Given the description of an element on the screen output the (x, y) to click on. 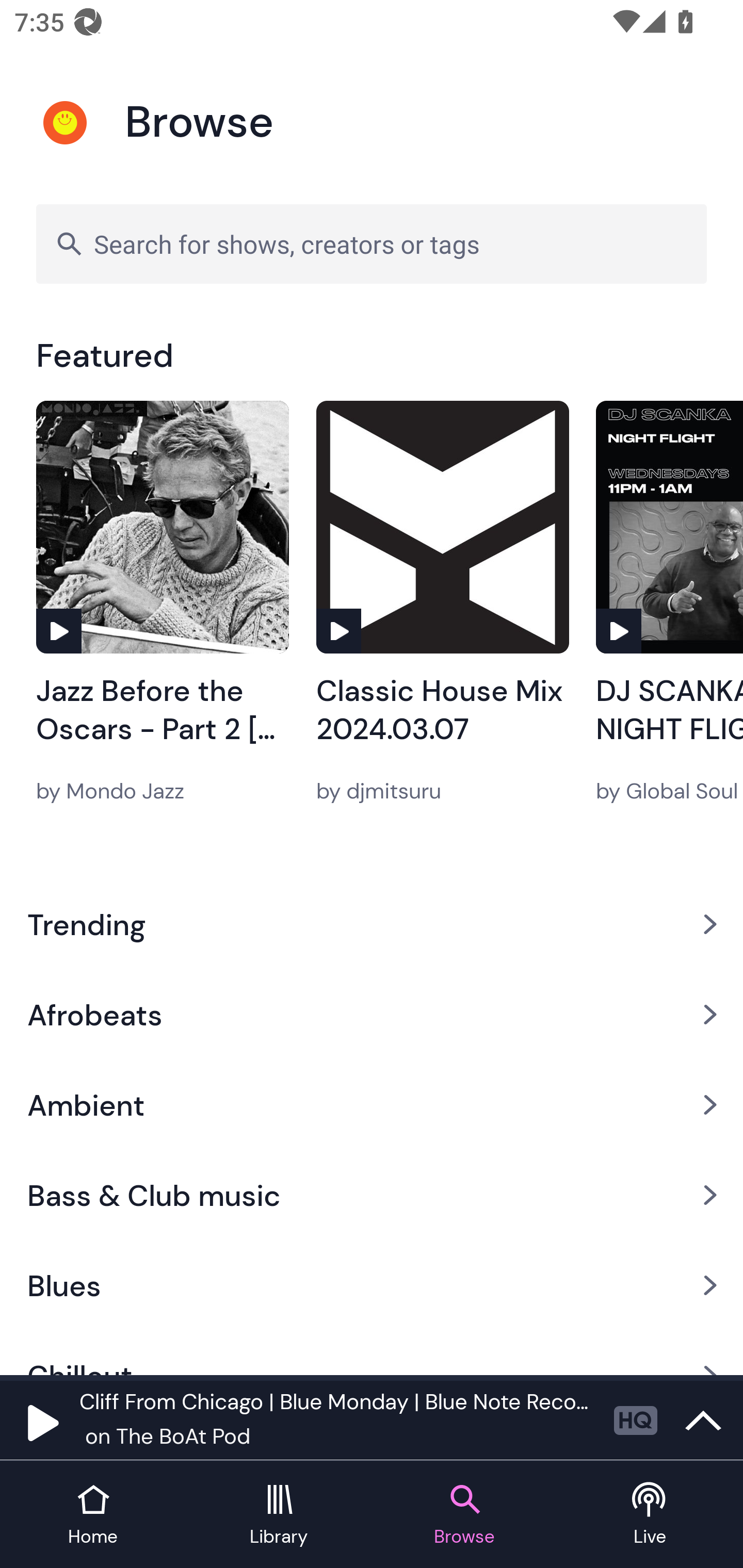
Search for shows, creators or tags (371, 243)
Trending (371, 924)
Afrobeats (371, 1014)
Ambient (371, 1104)
Bass & Club music (371, 1195)
Blues (371, 1285)
Home tab Home (92, 1515)
Library tab Library (278, 1515)
Browse tab Browse (464, 1515)
Live tab Live (650, 1515)
